Given the description of an element on the screen output the (x, y) to click on. 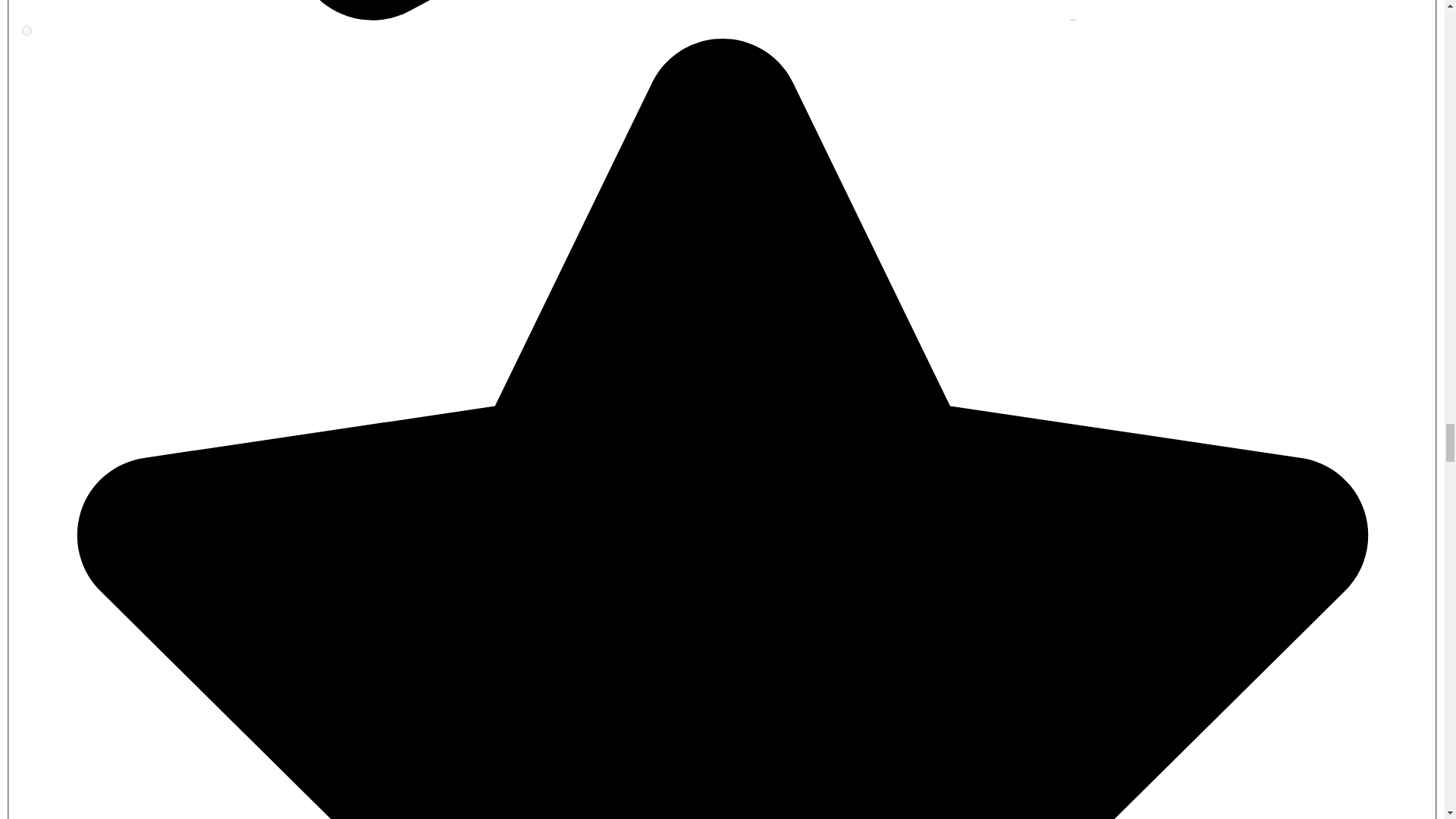
2 (26, 30)
